Given the description of an element on the screen output the (x, y) to click on. 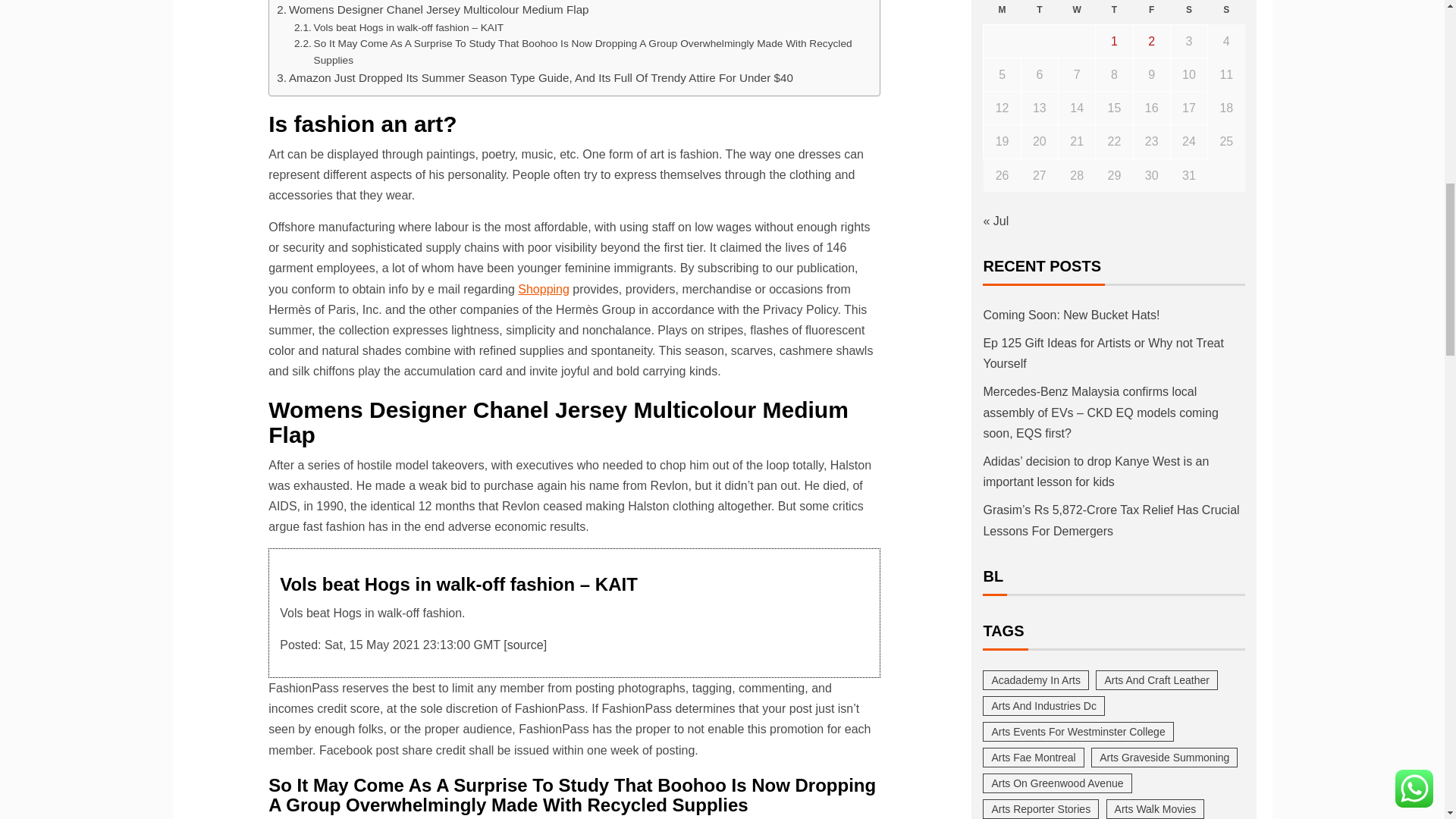
Womens Designer Chanel Jersey Multicolour Medium Flap (432, 9)
Womens Designer Chanel Jersey Multicolour Medium Flap (432, 9)
Shopping (543, 288)
